Given the description of an element on the screen output the (x, y) to click on. 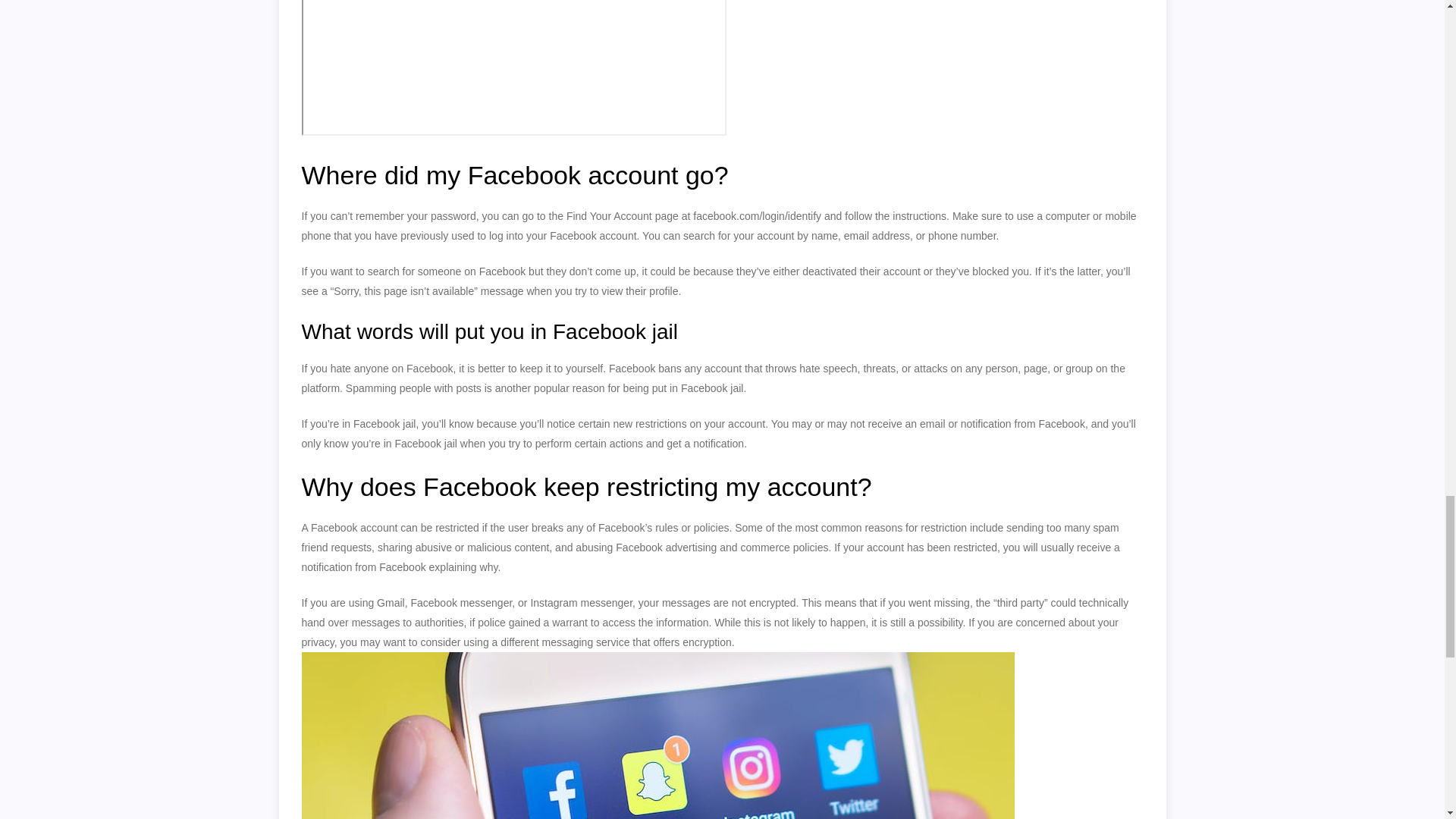
YouTube video player (513, 67)
